Given the description of an element on the screen output the (x, y) to click on. 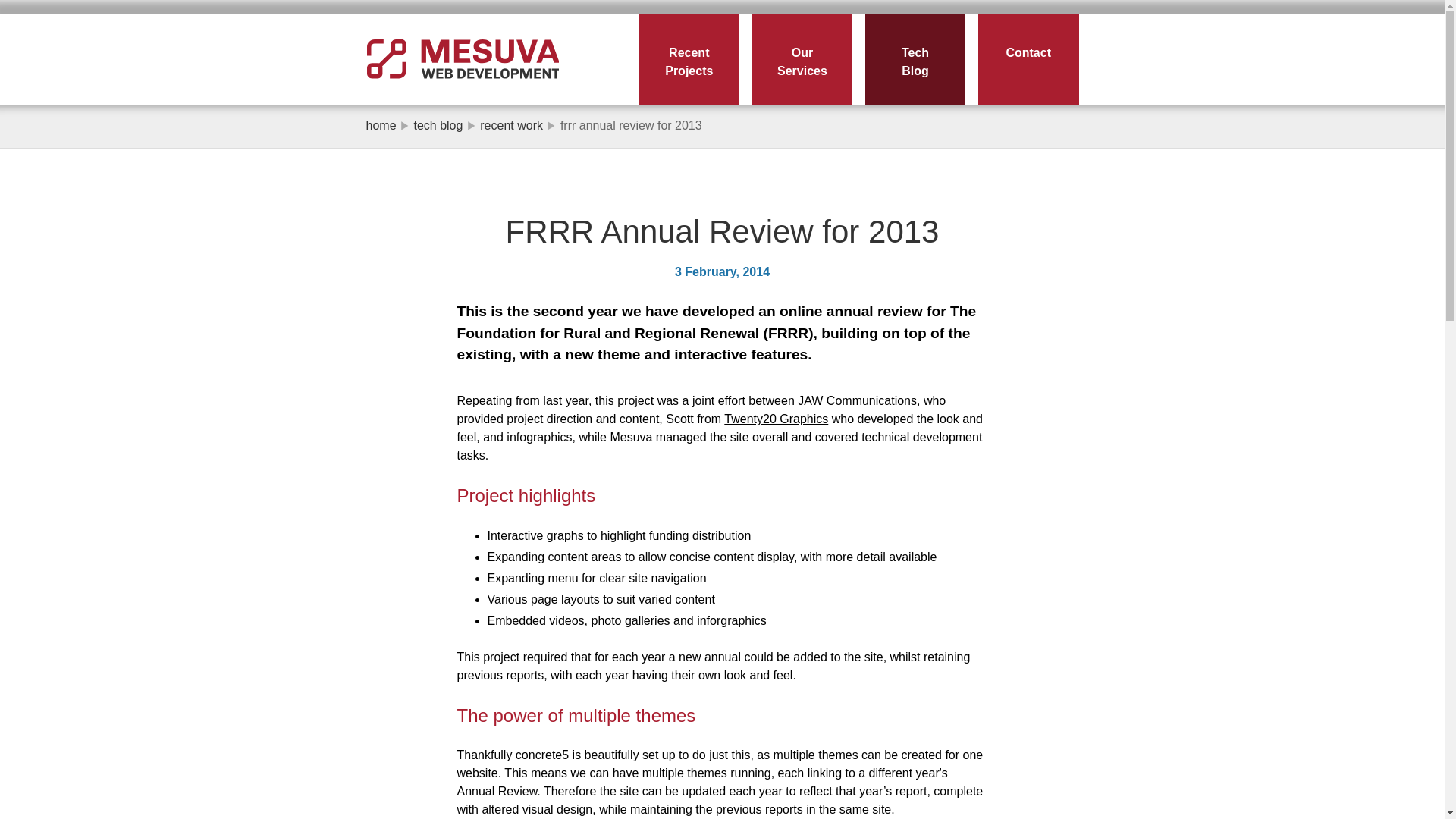
tech blog (438, 124)
home (380, 124)
last year (565, 400)
Recent Projects (689, 58)
Mesuva Web Development (461, 64)
Twenty20 Graphics (775, 418)
Our Services (802, 58)
recent work (511, 124)
Contact (1028, 58)
Home (461, 64)
